Given the description of an element on the screen output the (x, y) to click on. 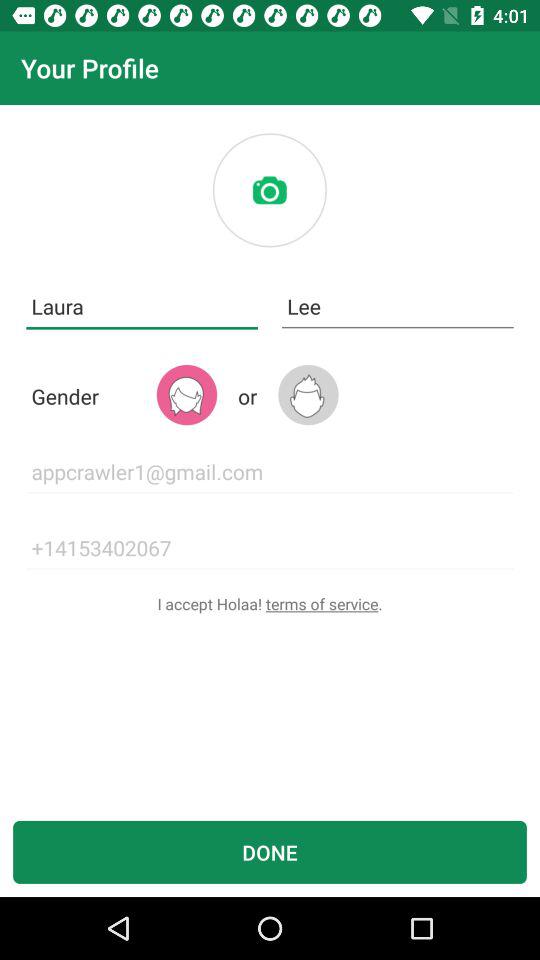
launch the item above done item (269, 603)
